Given the description of an element on the screen output the (x, y) to click on. 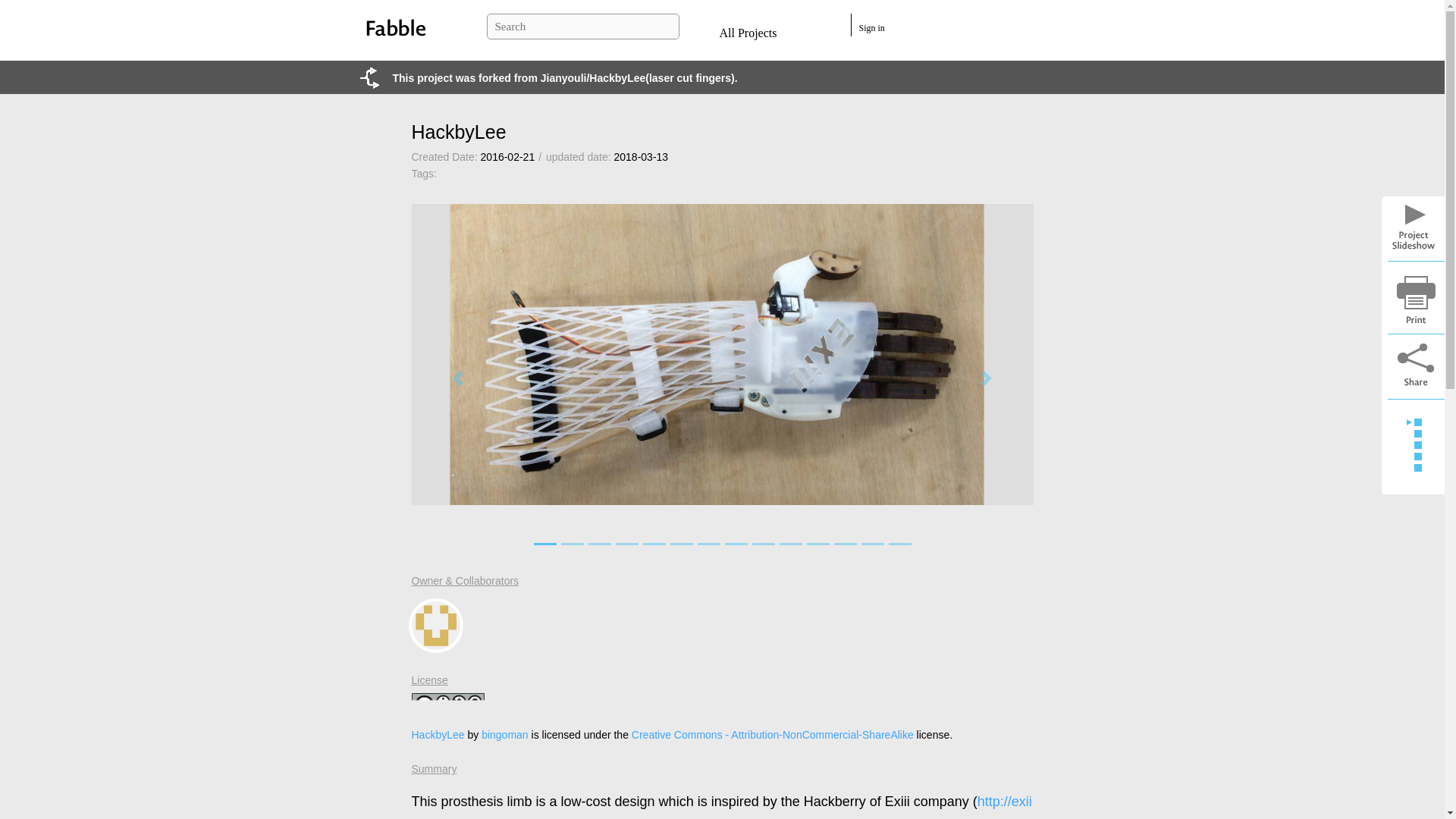
bingoman (435, 625)
Creative Commons - Attribution-NonCommercial-ShareAlike (772, 734)
Sign in (871, 27)
All Projects (747, 32)
HackbyLee (437, 734)
bingoman (504, 734)
